Given the description of an element on the screen output the (x, y) to click on. 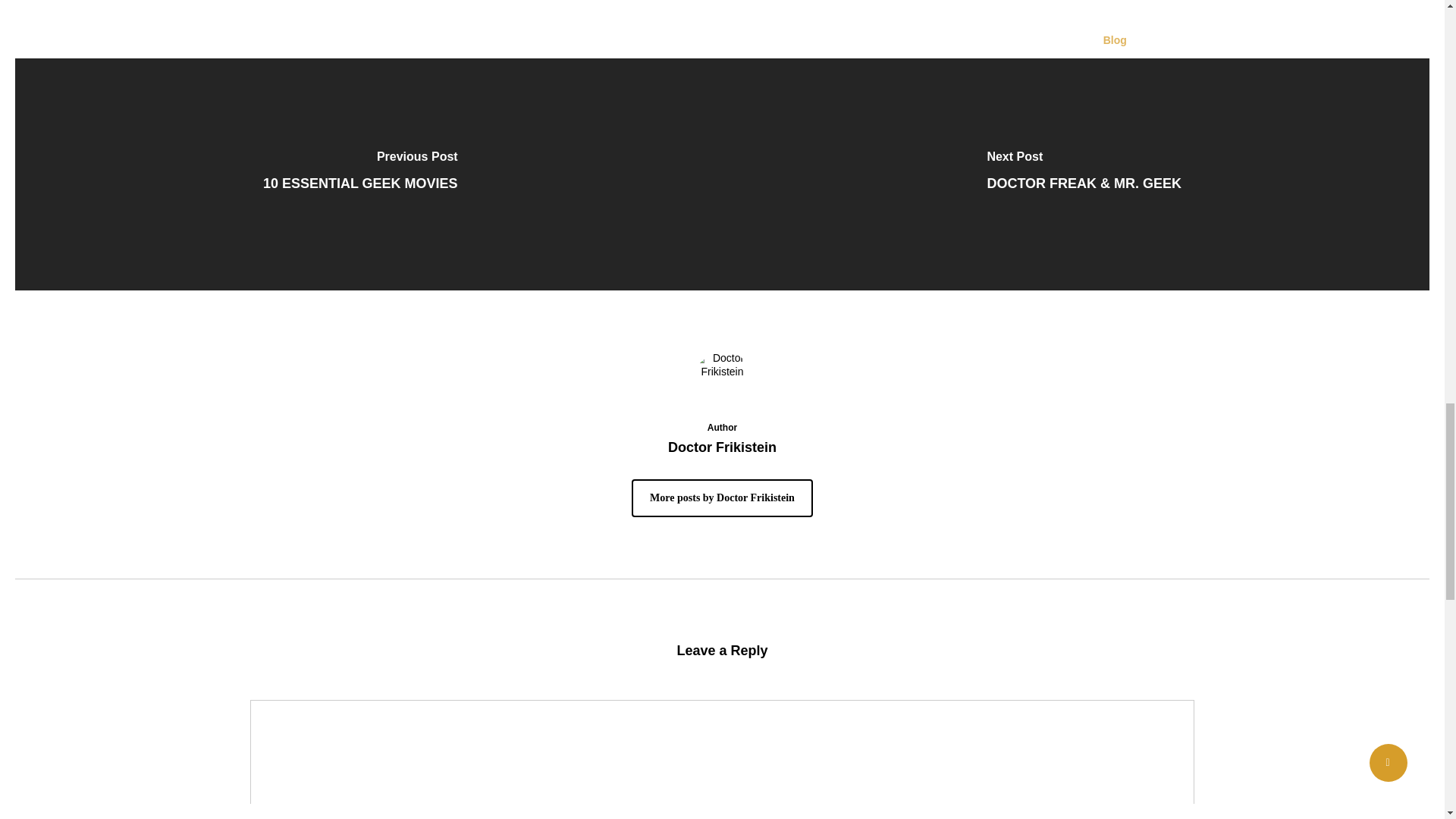
More posts by Doctor Frikistein (721, 497)
